Given the description of an element on the screen output the (x, y) to click on. 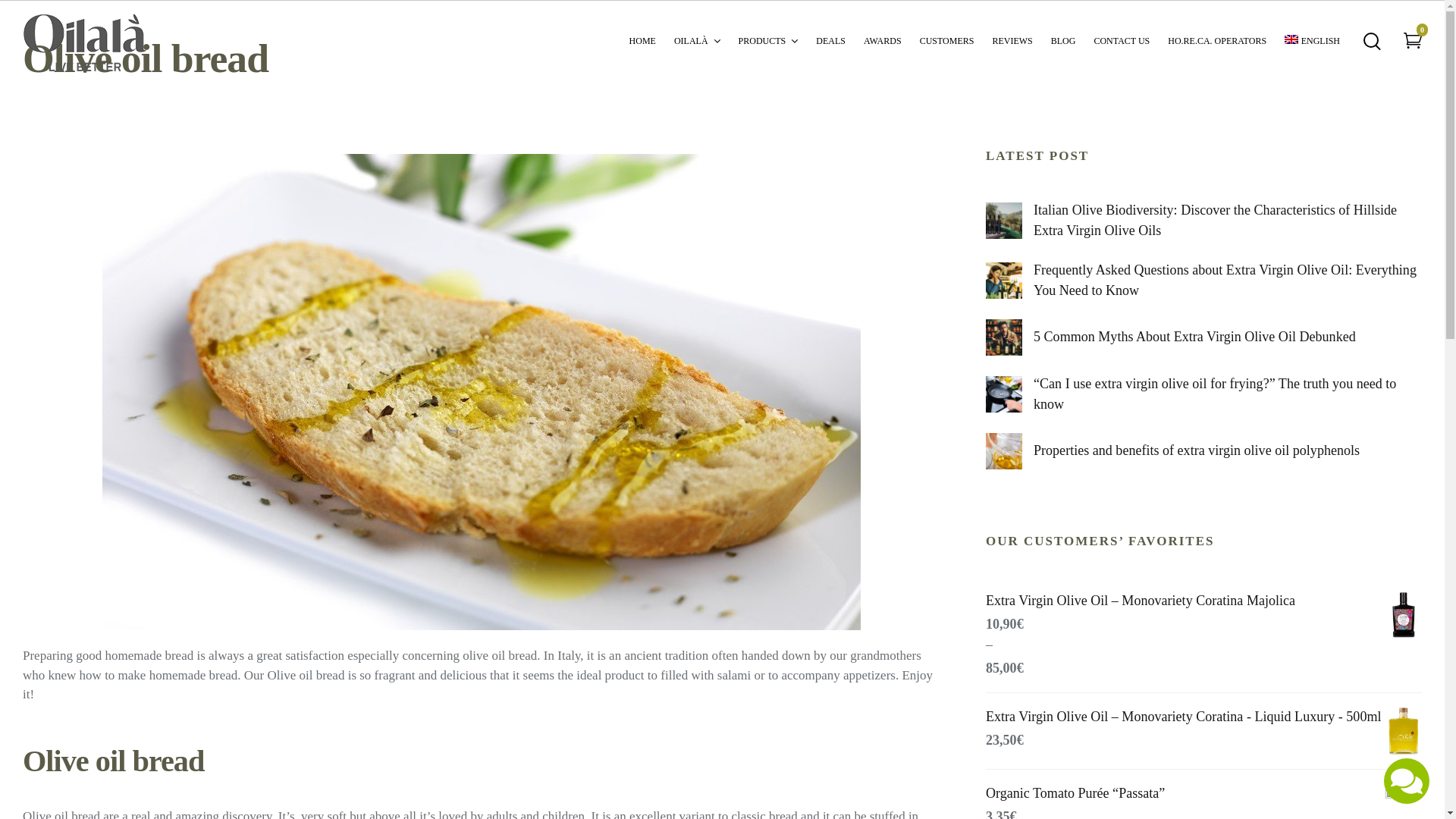
ENGLISH (1311, 39)
Search (8, 9)
BLOG (1063, 39)
English (1311, 39)
5 Common Myths About Extra Virgin Olive Oil Debunked (1194, 336)
HOME (642, 39)
CUSTOMERS (947, 39)
CONTACT US (1121, 39)
REVIEWS (1011, 39)
PRODUCTS (767, 39)
DEALS (830, 39)
